Given the description of an element on the screen output the (x, y) to click on. 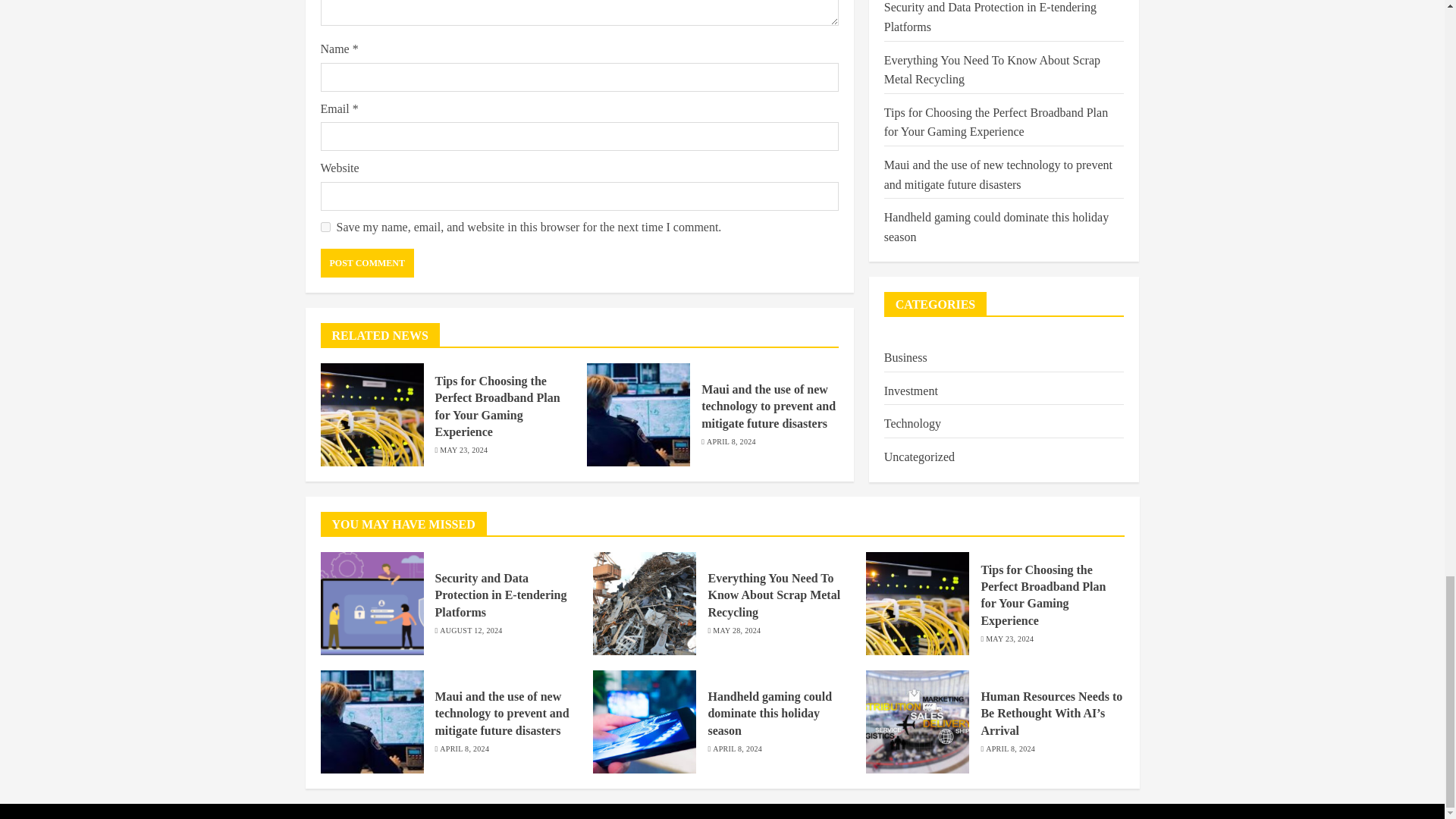
Post Comment (366, 262)
Security and Data Protection in E-tendering Platforms (501, 595)
Post Comment (366, 262)
yes (325, 226)
MAY 23, 2024 (463, 450)
APRIL 8, 2024 (730, 441)
